Given the description of an element on the screen output the (x, y) to click on. 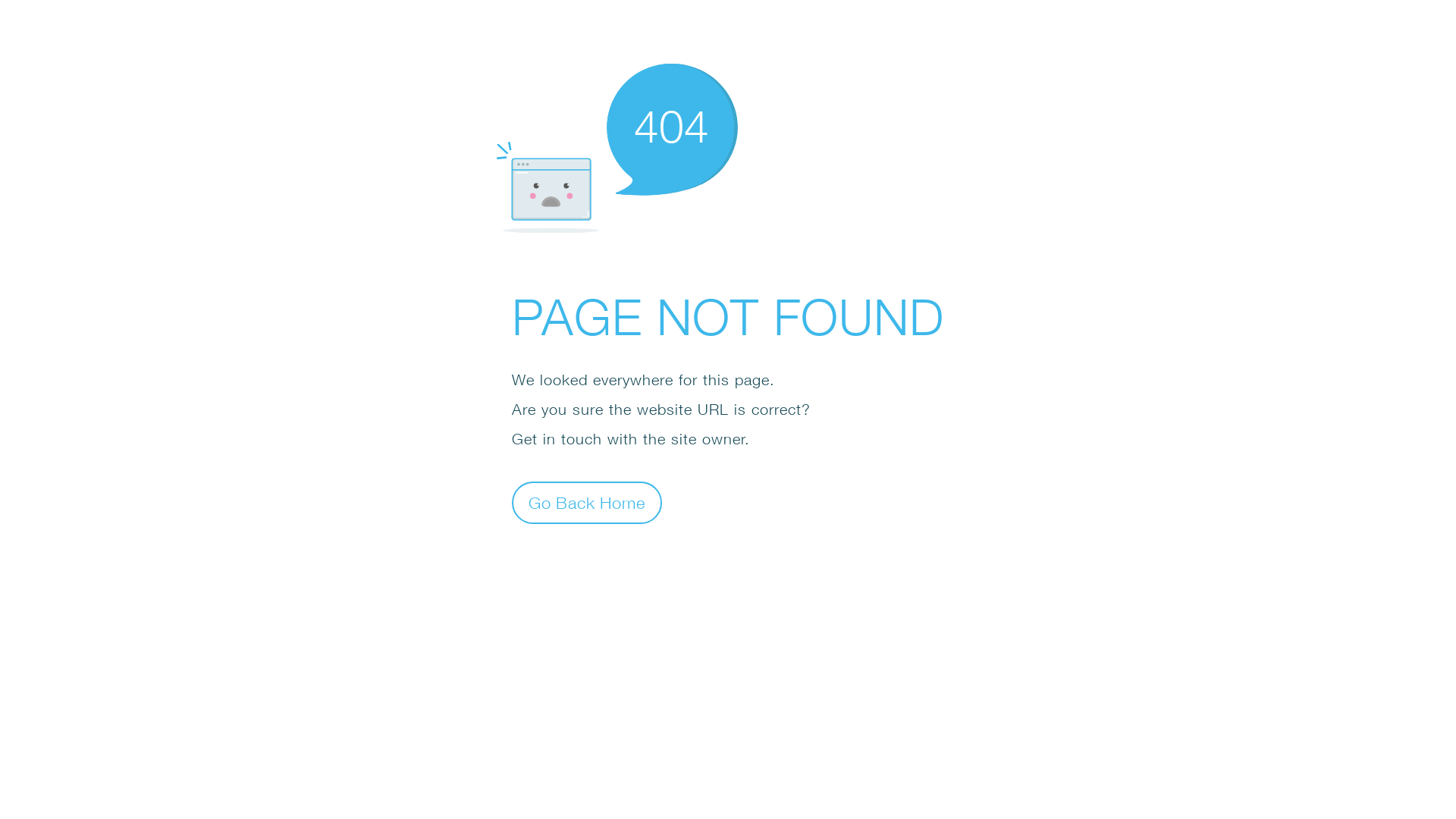
Go Back Home Element type: text (586, 502)
